Given the description of an element on the screen output the (x, y) to click on. 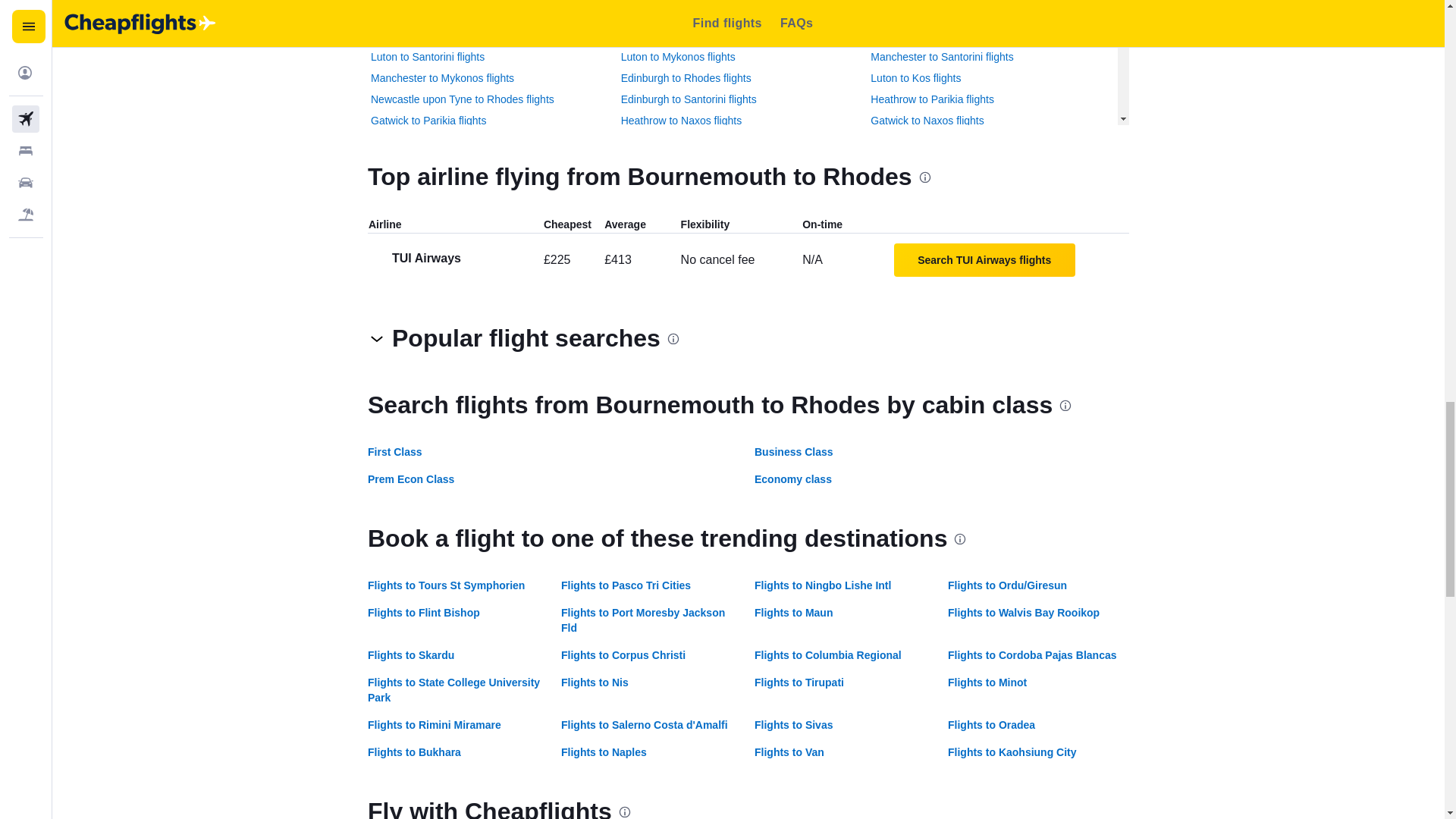
Flights to Pasco Tri Cities (625, 585)
First Class (395, 451)
Flights to Tours St Symphorien (446, 585)
Prem Econ Class (411, 479)
Economy class (792, 479)
Heathrow to Kos flights (425, 14)
Business Class (793, 451)
